Given the description of an element on the screen output the (x, y) to click on. 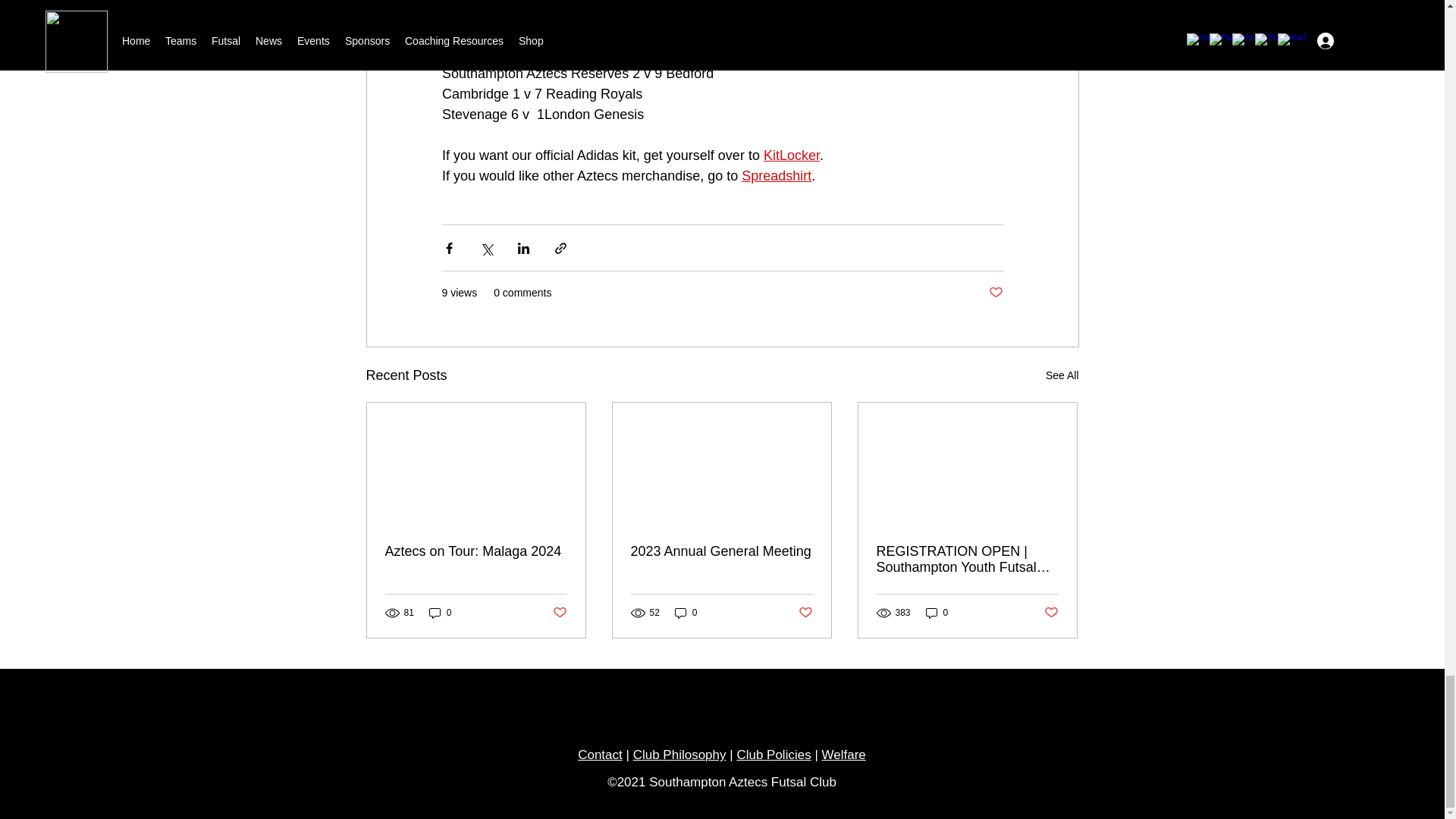
KitLocker (790, 155)
Spreadshirt (775, 175)
Post not marked as liked (995, 293)
See All (1061, 375)
0 (440, 612)
Aztecs on Tour: Malaga 2024 (476, 551)
